Given the description of an element on the screen output the (x, y) to click on. 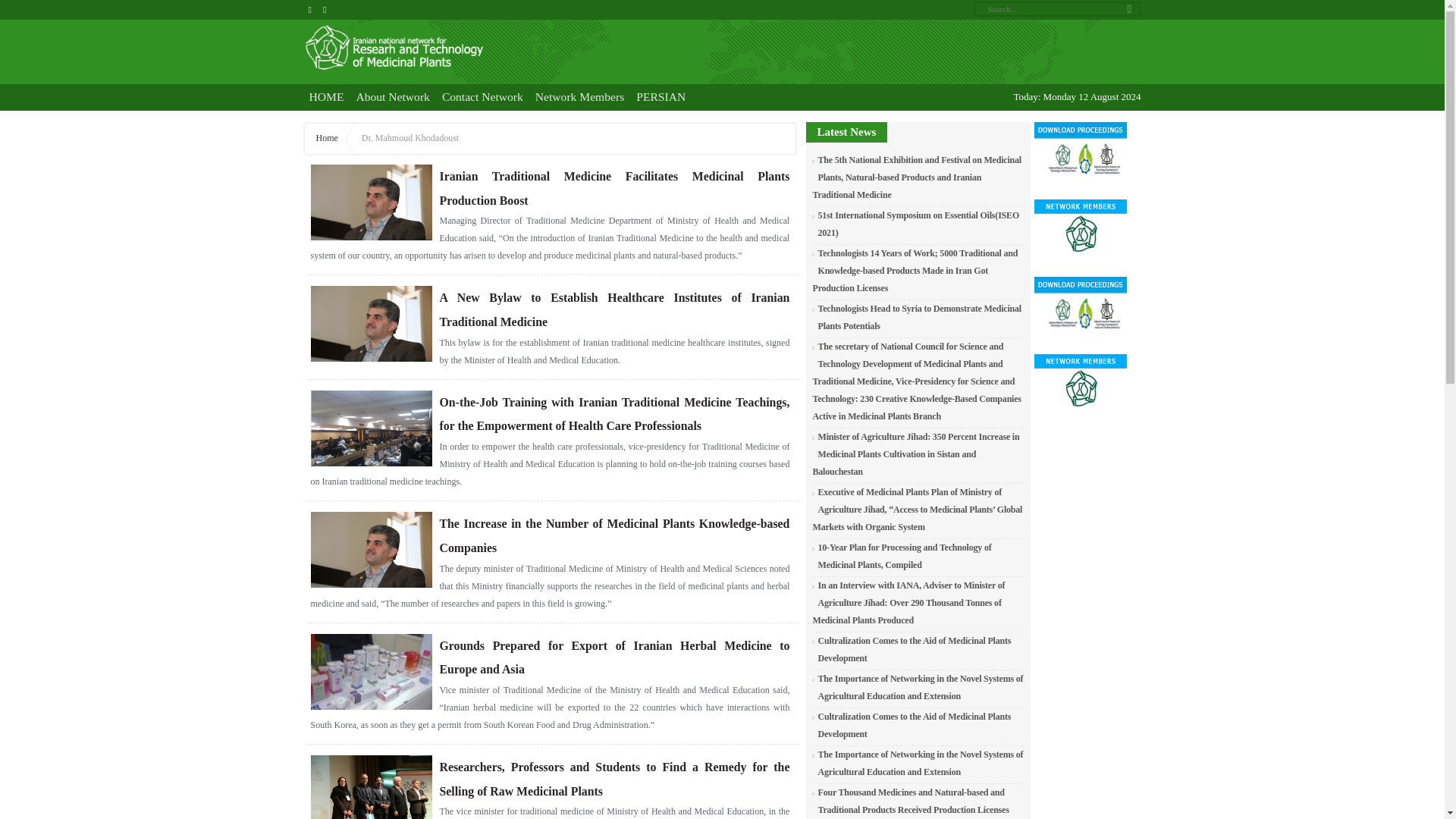
Network Members (579, 97)
